Given the description of an element on the screen output the (x, y) to click on. 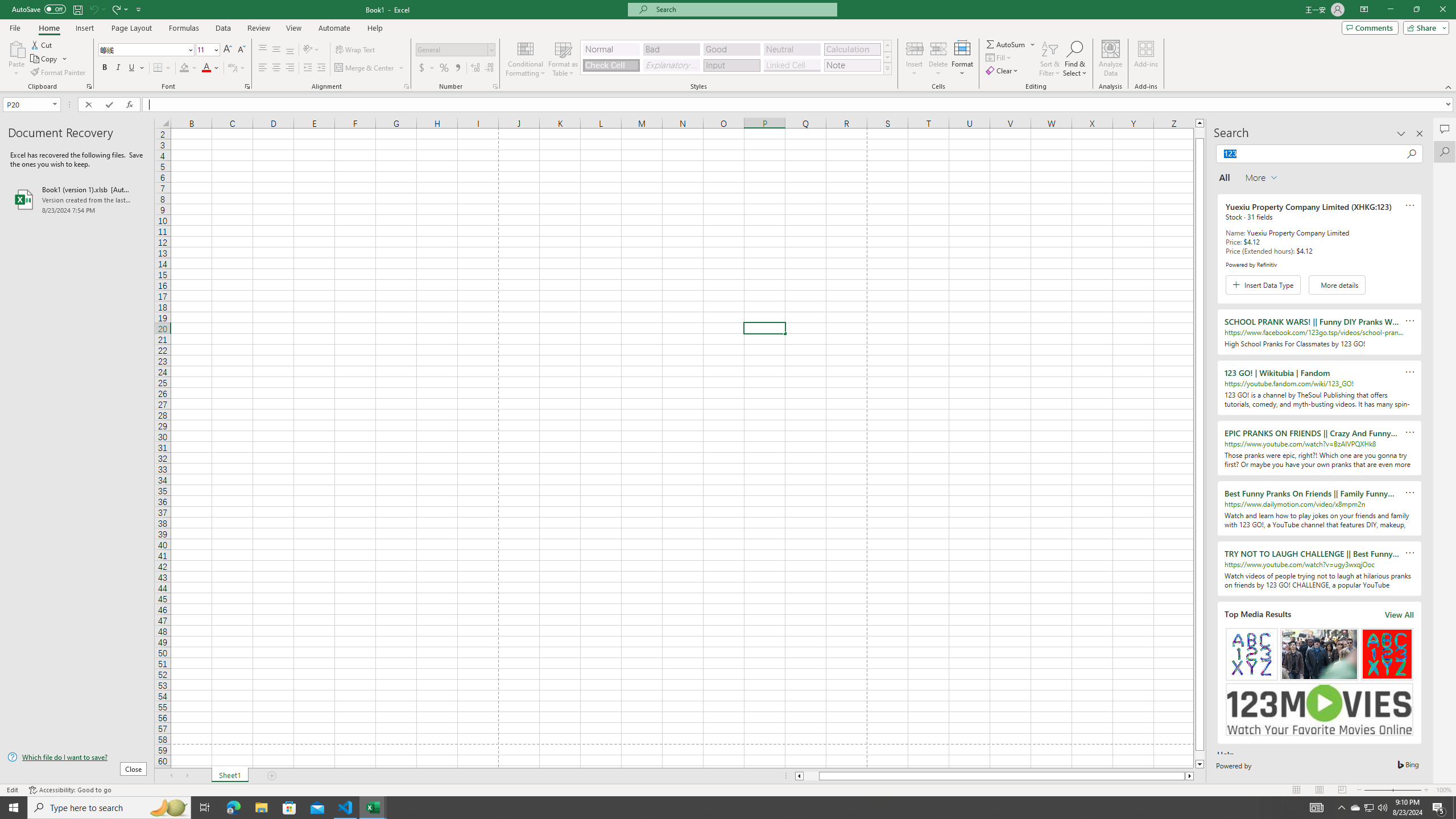
Delete Cells... (938, 48)
Note (852, 65)
Number Format (455, 49)
Fill (999, 56)
Borders (162, 67)
Copy (49, 58)
Format Painter (58, 72)
Cut (42, 44)
